Given the description of an element on the screen output the (x, y) to click on. 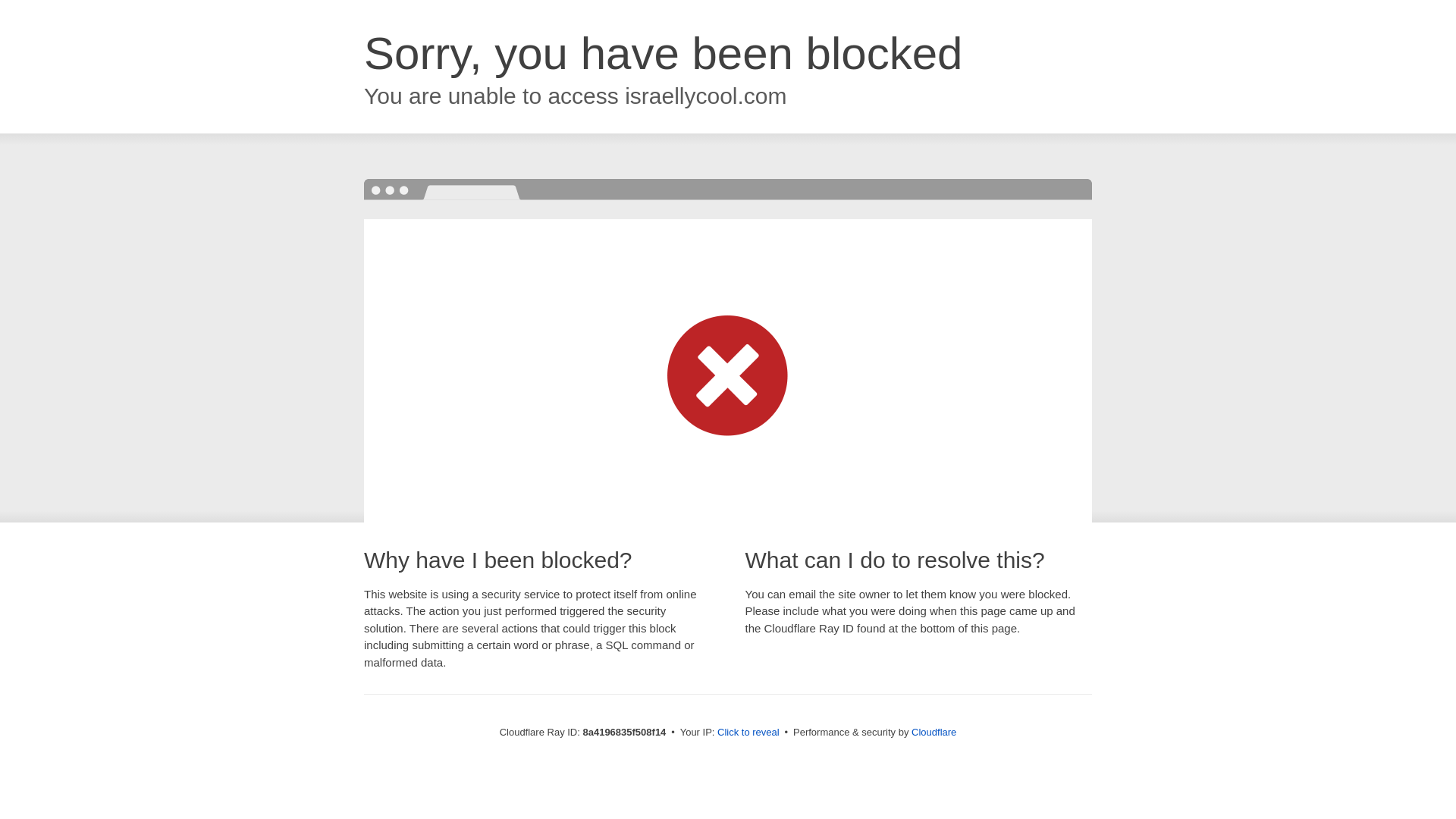
Click to reveal (747, 732)
Cloudflare (933, 731)
